Given the description of an element on the screen output the (x, y) to click on. 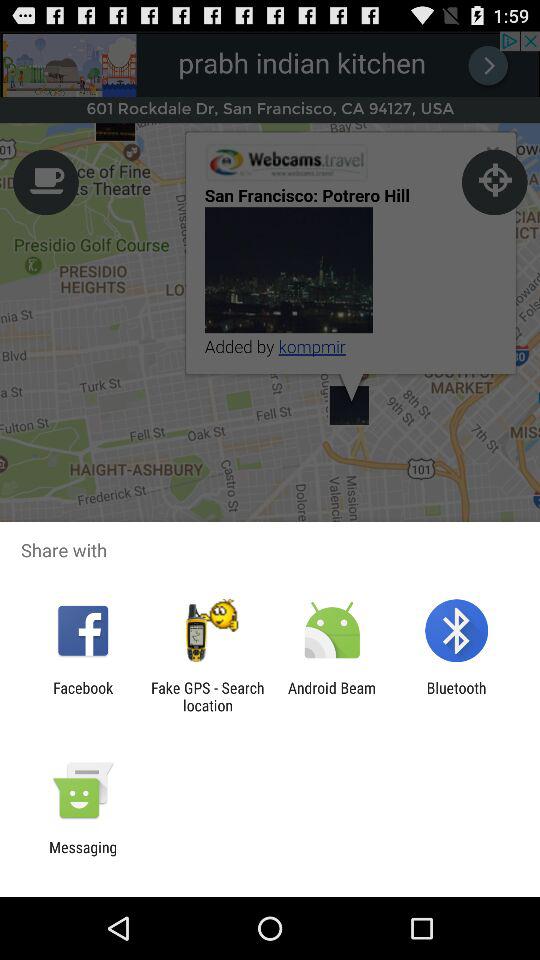
turn on the item next to fake gps search item (332, 696)
